Given the description of an element on the screen output the (x, y) to click on. 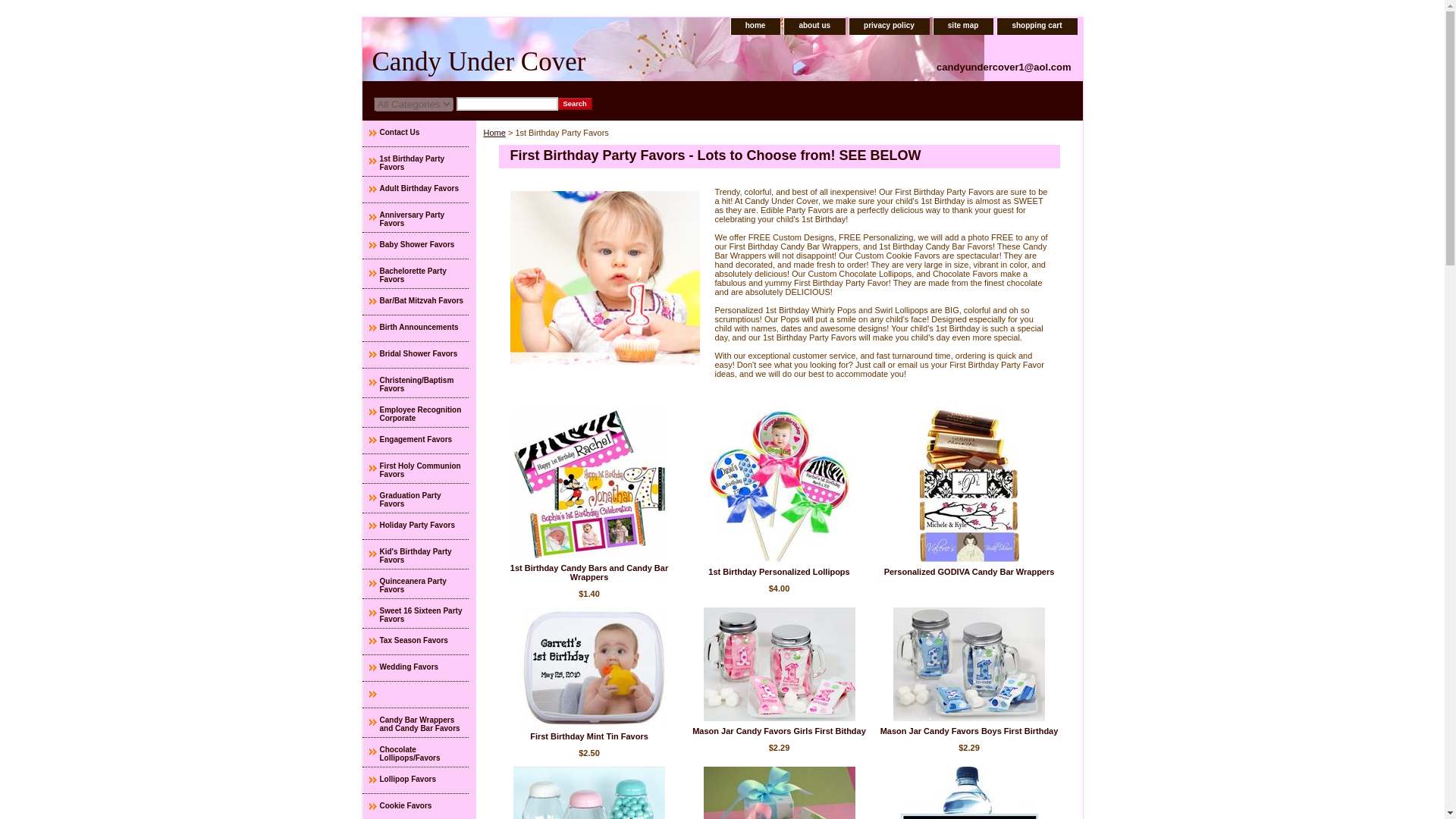
Mason Jar Candy Favors Boys First Birthday (969, 730)
1st Birthday Personalized Lollipops  (778, 485)
Mason Jar Candy Favors Girls First Bithday (779, 730)
Mason Jar Candy Favors Girls First Bithday (779, 730)
home (755, 26)
Home (494, 132)
1st Birthday Candy Bars and Candy Bar Wrappers (589, 572)
First Birthday Favor Boxes (779, 792)
1st Birthday Party Favors (603, 277)
First Birthday Mint Tin Favors (588, 736)
Mason Jar Candy Favors Boys First Birthday (969, 730)
1st Birthday Candy Bars and Candy Bar Wrappers (589, 572)
Mason Jar Candy Favors Girls First Bithday (779, 664)
Mason Jar Candy Favors Boys First Birthday (969, 664)
Personalized GODIVA Candy Bar Wrappers (968, 571)
